Given the description of an element on the screen output the (x, y) to click on. 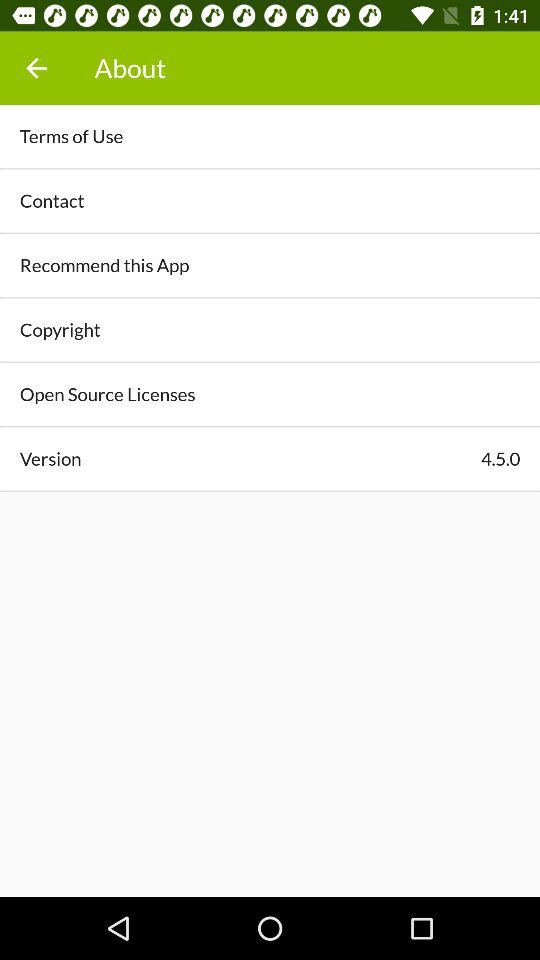
click icon next to the about (36, 68)
